Given the description of an element on the screen output the (x, y) to click on. 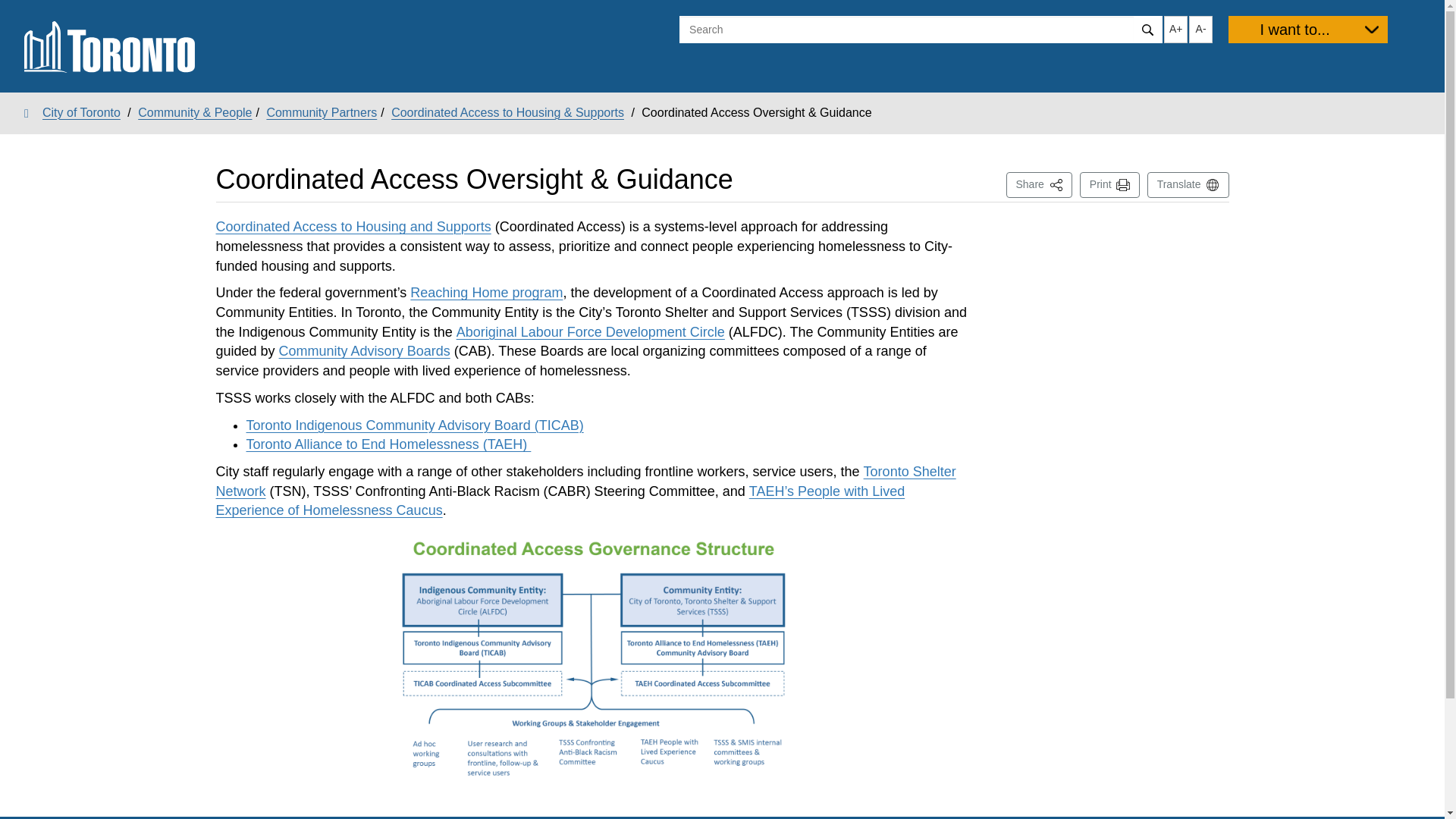
Translate (1187, 184)
Aboriginal Labour Force Development Circle (591, 331)
City of Toronto (1038, 184)
Community Partners (72, 112)
Increase text size (321, 112)
Skip to content (1175, 29)
Community Advisory Boards (11, 11)
Reaching Home program (364, 350)
Print (486, 292)
Toronto Shelter Network (1110, 184)
Coordinated Access to Housing and Supports (585, 481)
I want to... (352, 226)
